Given the description of an element on the screen output the (x, y) to click on. 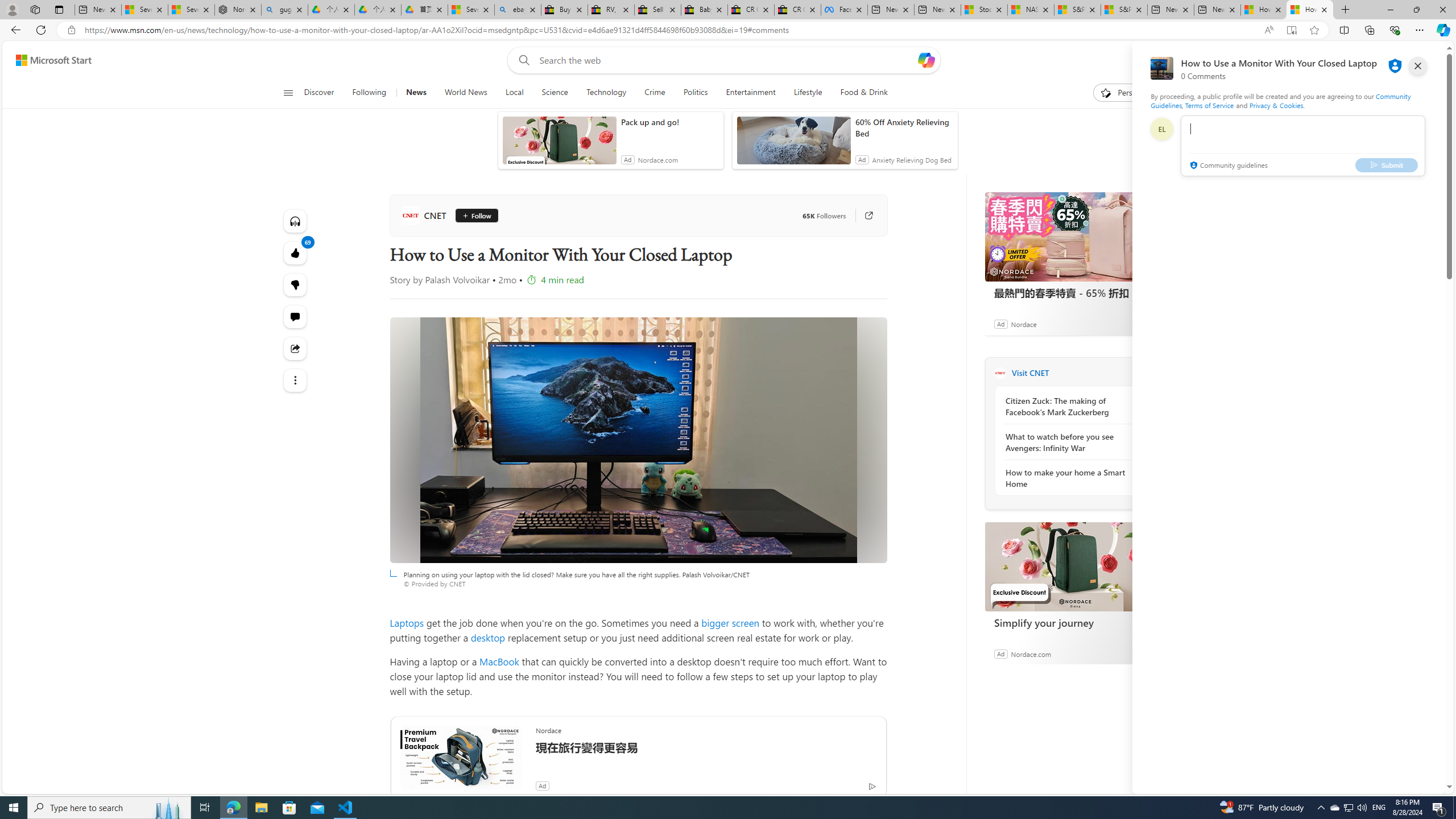
Buy Auto Parts & Accessories | eBay (563, 9)
Simplify your journey (1069, 622)
